Given the description of an element on the screen output the (x, y) to click on. 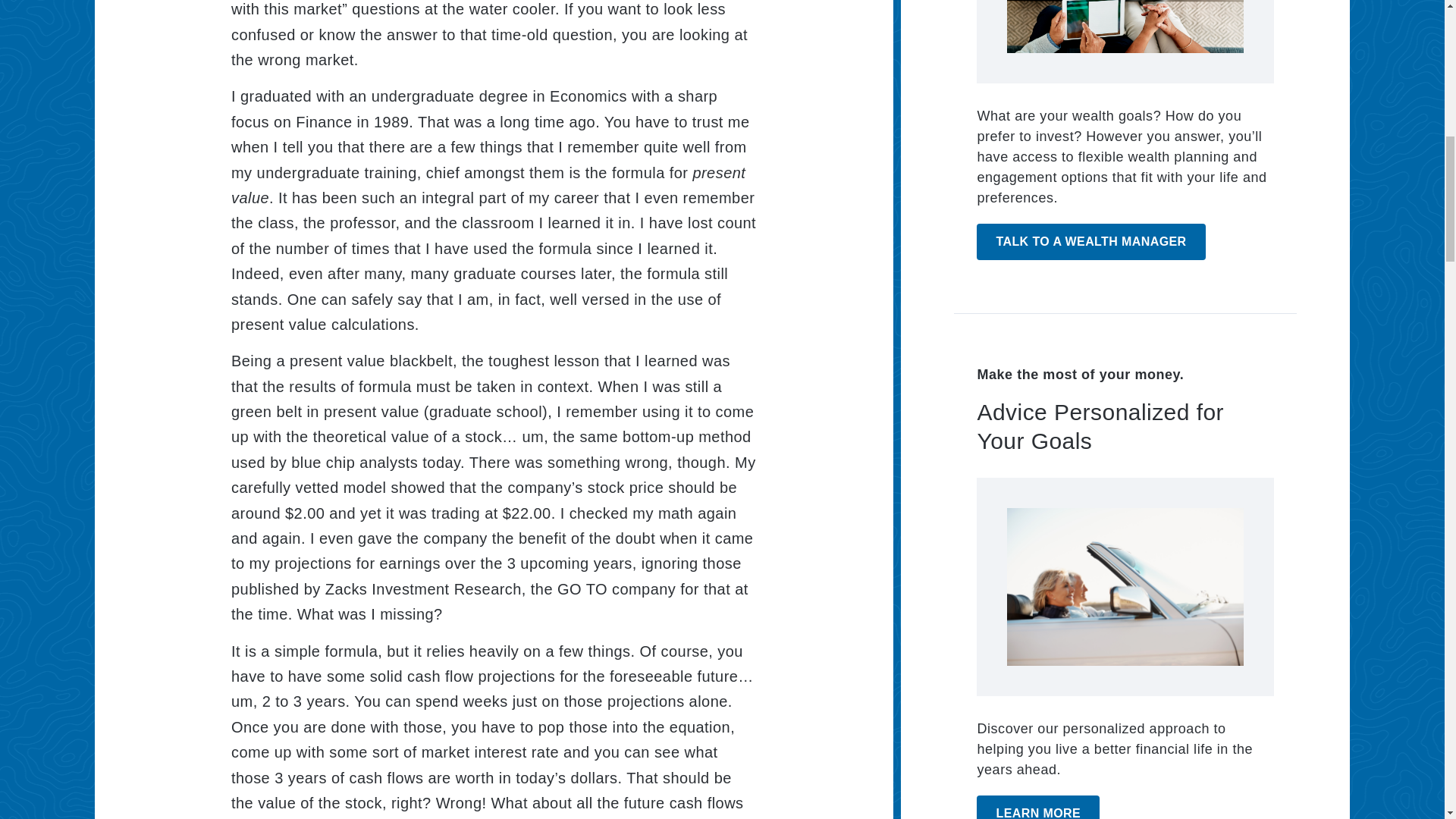
TALK TO A WEALTH MANAGER (1090, 241)
LEARN MORE (1037, 807)
